Given the description of an element on the screen output the (x, y) to click on. 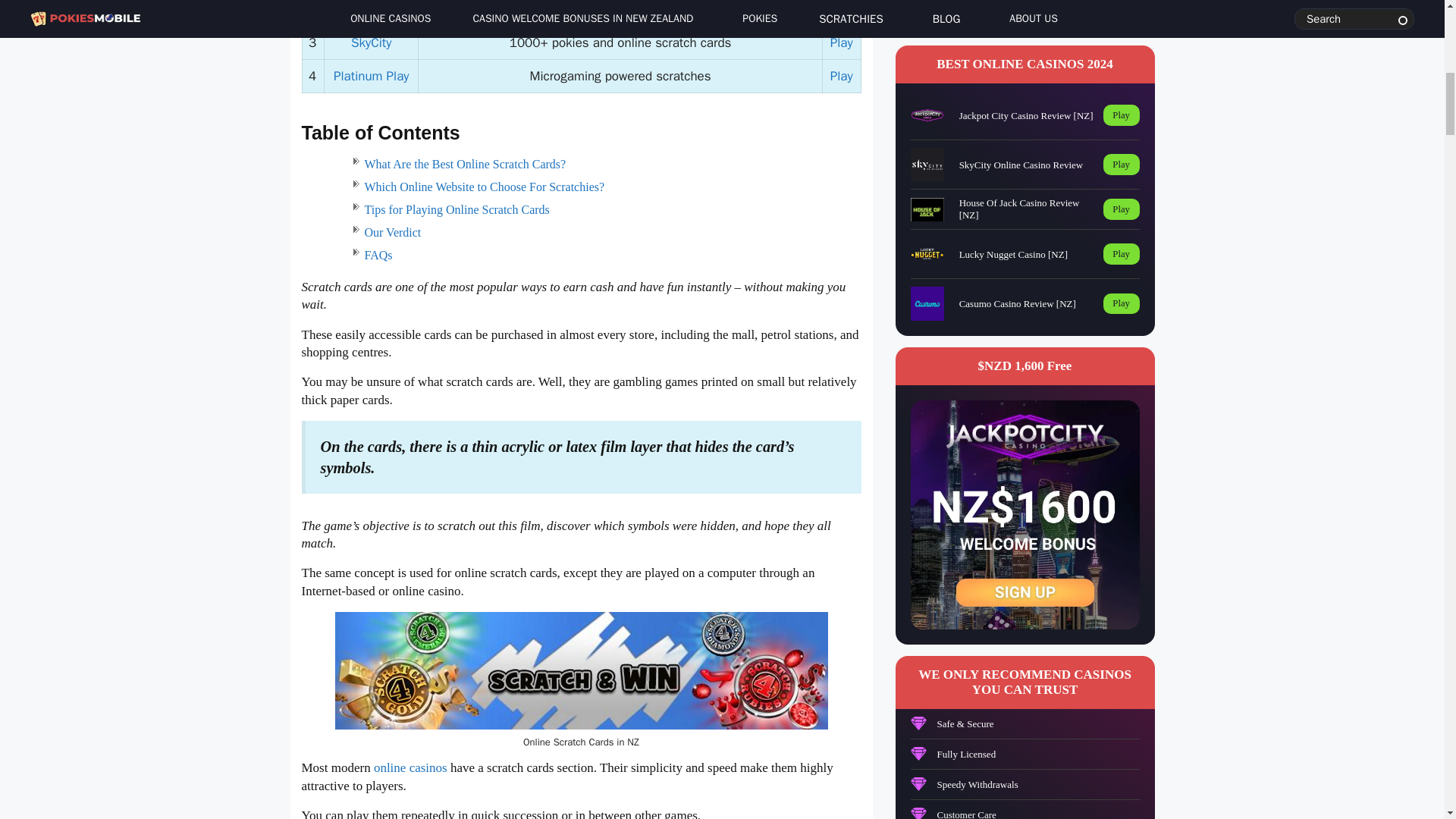
Platinum Play (371, 75)
Play (841, 42)
What Are the Best Online Scratch Cards? (465, 164)
Play (841, 75)
SkyCity (370, 42)
Jackpot City (370, 10)
Play (841, 10)
Which Online Website to Choose For Scratchies? (484, 186)
